Given the description of an element on the screen output the (x, y) to click on. 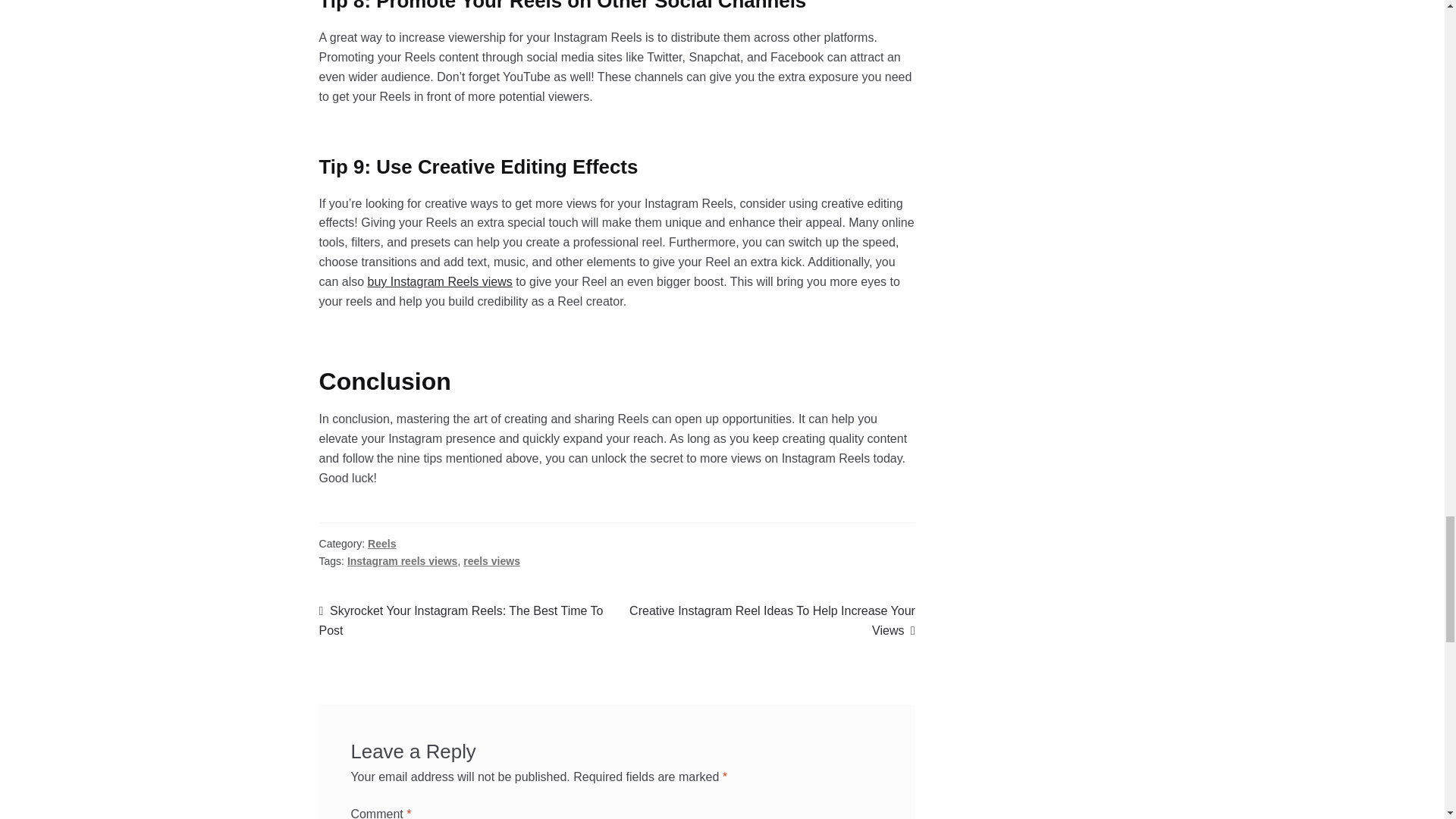
buy Instagram Reels views (440, 281)
Skyrocket Your Instagram Reels: The Best Time To Post (467, 620)
Instagram reels views (402, 561)
Reels (382, 543)
reels views (491, 561)
